Given the description of an element on the screen output the (x, y) to click on. 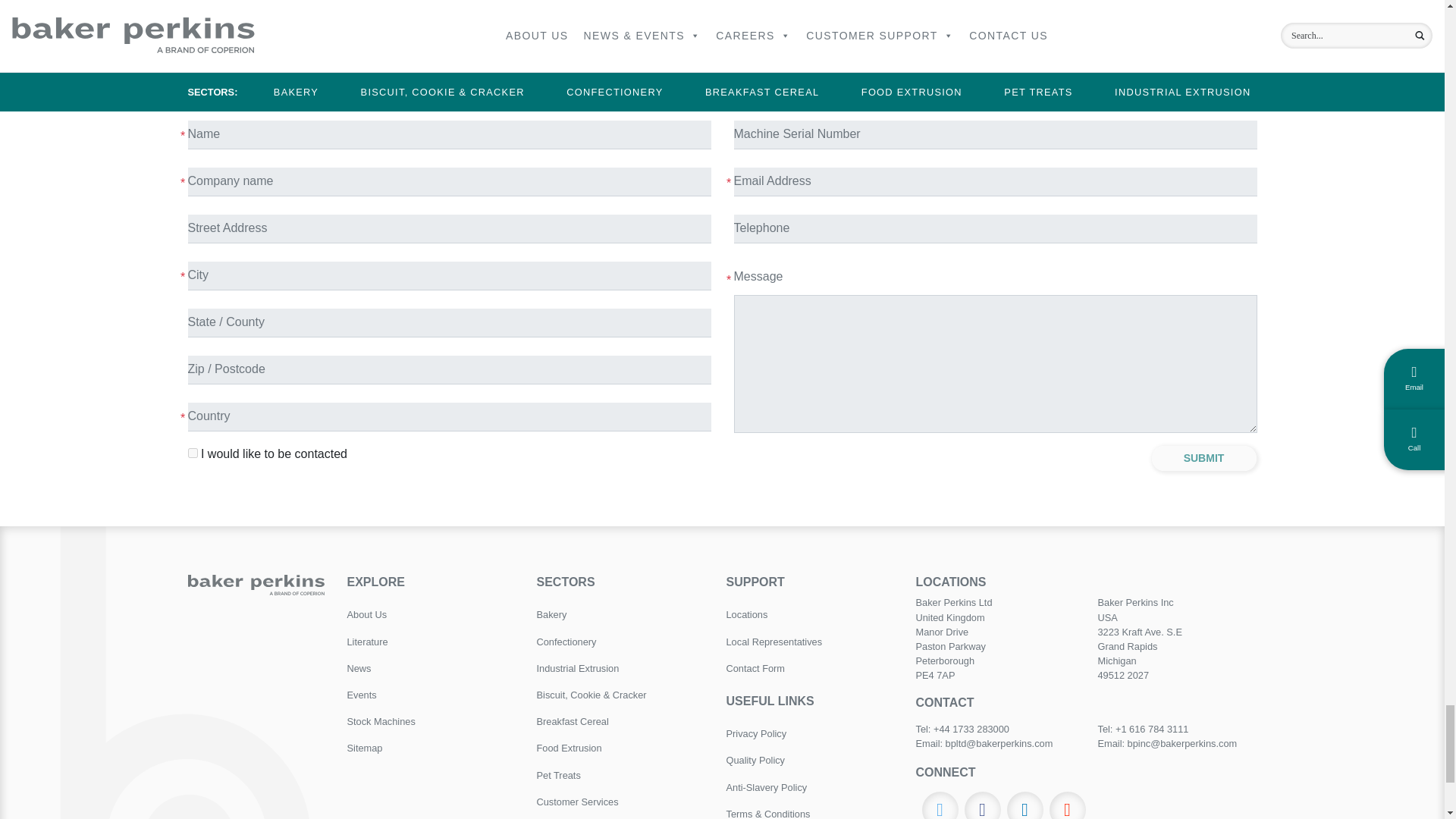
About Us (430, 614)
Confectionery (620, 641)
Literature (430, 641)
Stock Machines (430, 721)
Events (430, 694)
Bakery (620, 614)
News (430, 668)
Submit (1204, 458)
Sitemap (430, 747)
1 (192, 452)
